Given the description of an element on the screen output the (x, y) to click on. 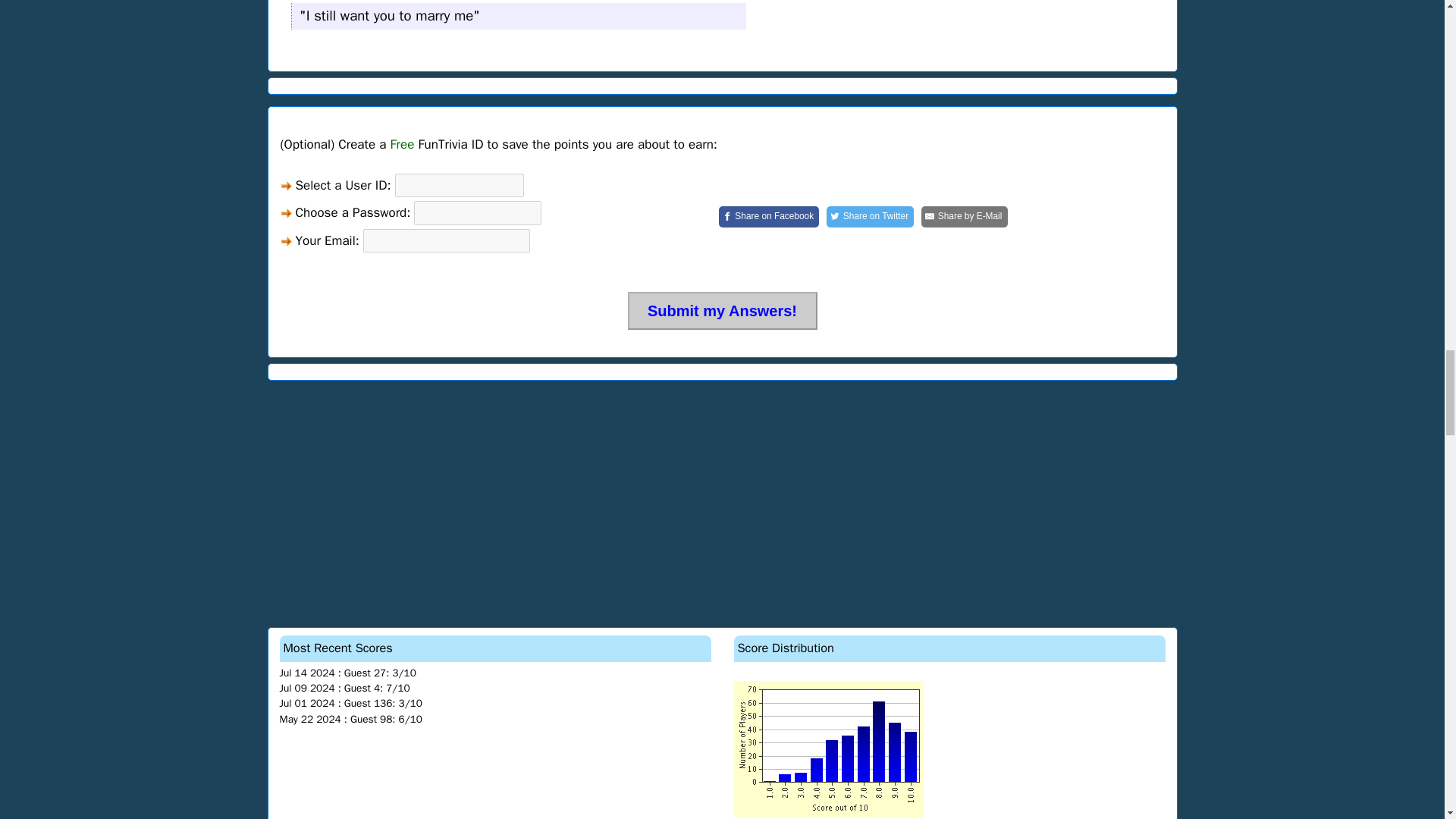
Submit my Answers! (721, 310)
